Given the description of an element on the screen output the (x, y) to click on. 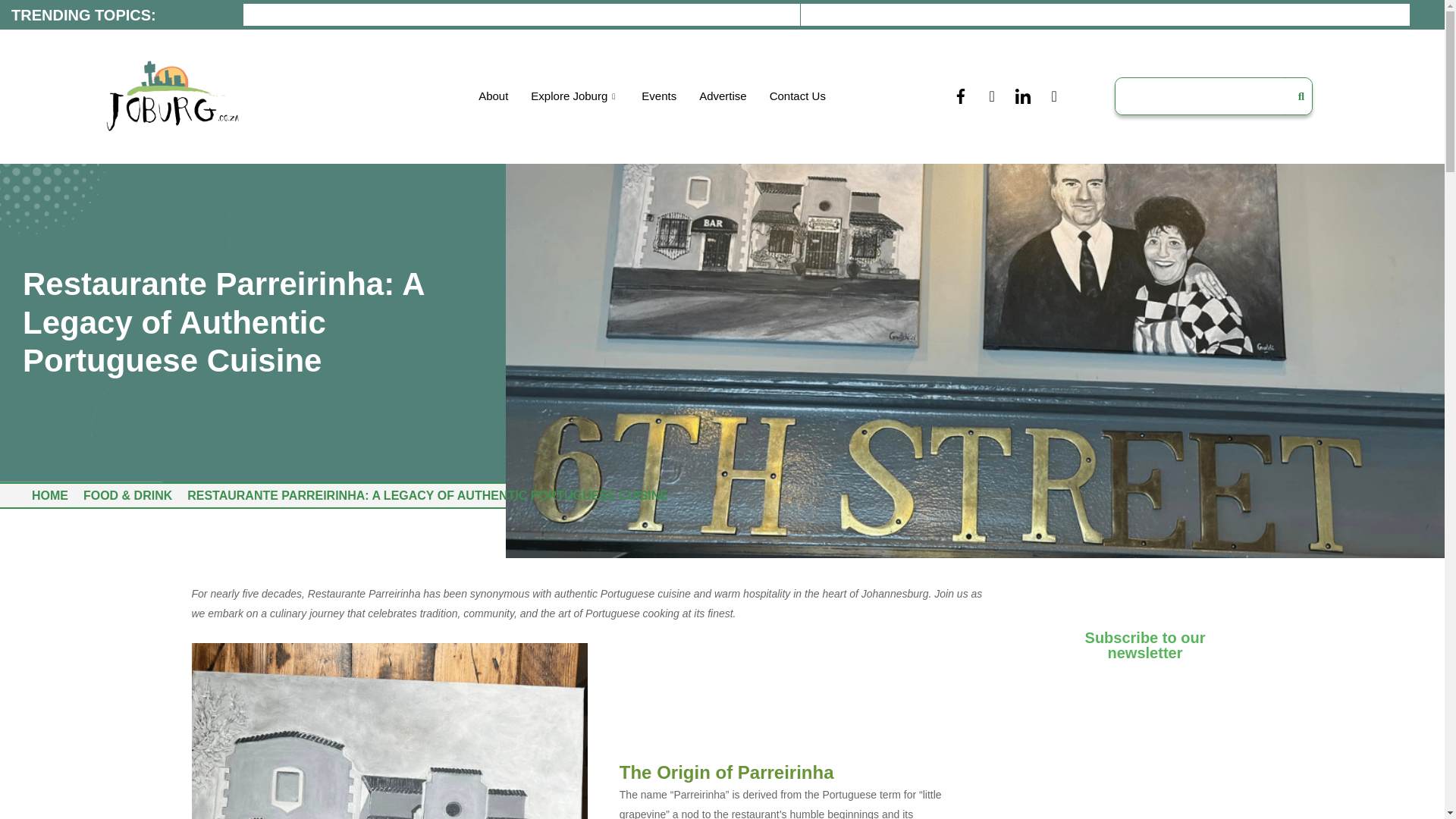
Explore Joburg (574, 96)
SHOPPING (767, 14)
PROPERTY (667, 14)
PARENTING (422, 14)
SPECIAL OCCASIONS (898, 14)
COMPETITIONS (1142, 14)
BUSINESS (1027, 14)
MOTORING (315, 14)
